Given the description of an element on the screen output the (x, y) to click on. 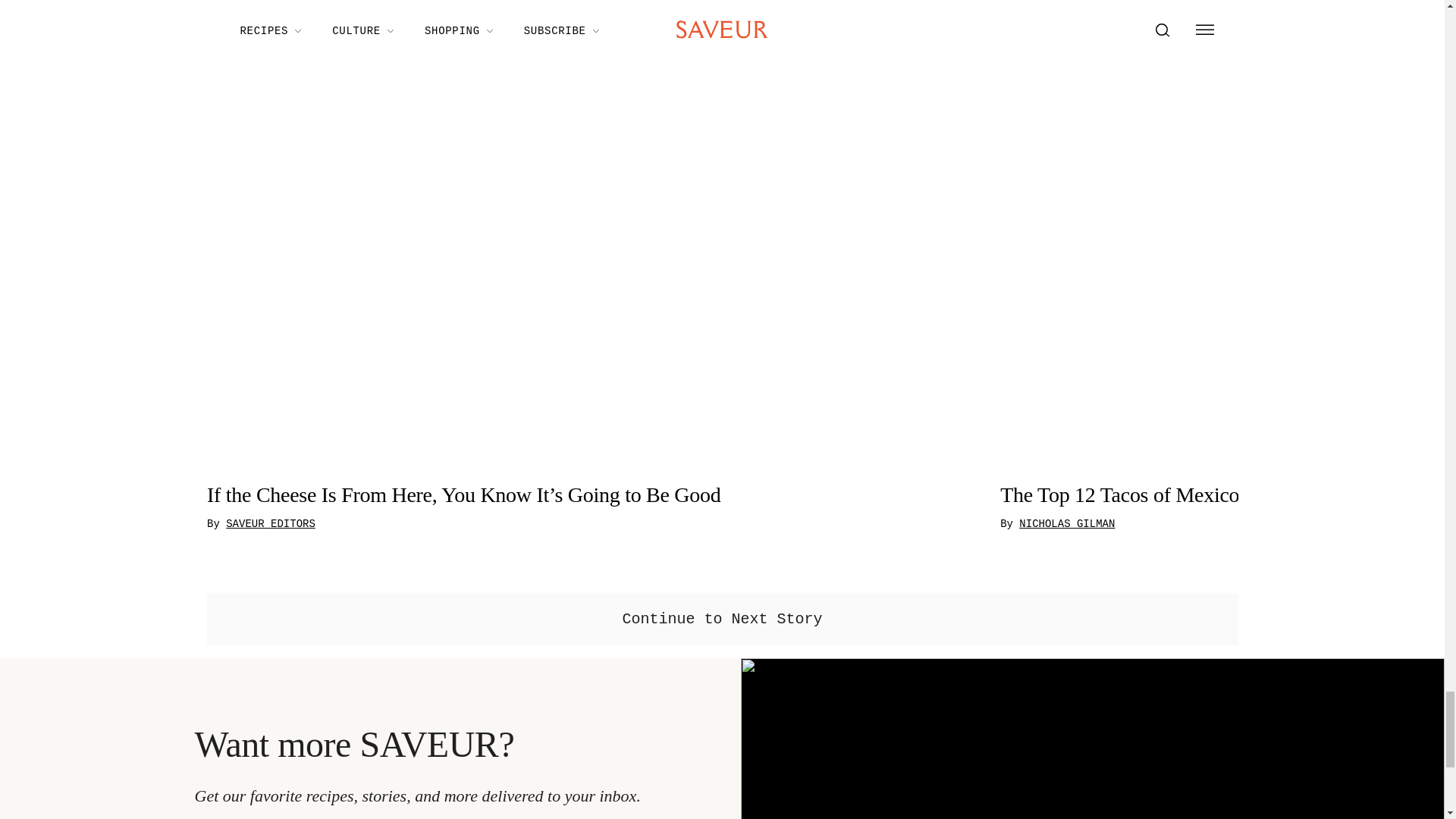
SAVEUR EDITORS (270, 524)
